Given the description of an element on the screen output the (x, y) to click on. 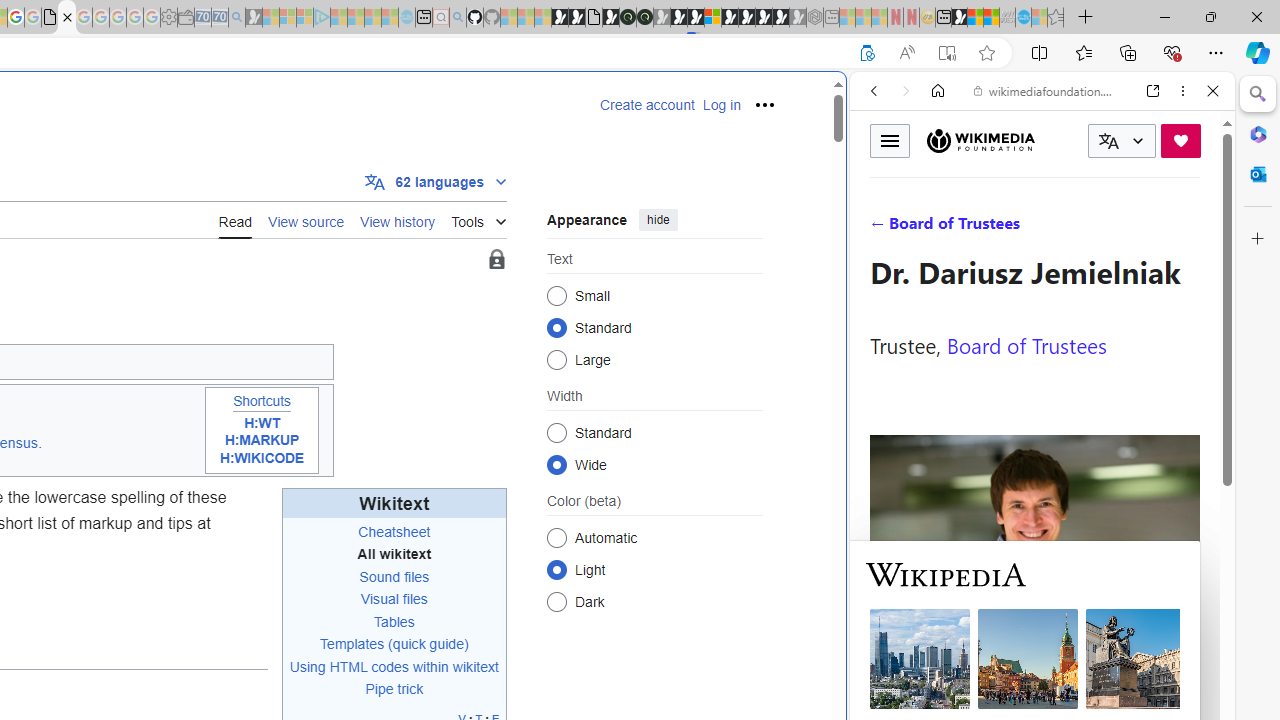
Earth has six continents not seven, radical new study claims (991, 17)
Read (235, 219)
Future Focus Report 2024 (644, 17)
Home | Sky Blue Bikes - Sky Blue Bikes (687, 426)
Pipe trick (394, 689)
Using HTML codes within wikitext (394, 666)
Bing Real Estate - Home sales and rental listings - Sleeping (236, 17)
View source (306, 219)
Favorites - Sleeping (1055, 17)
Toggle menu (890, 140)
Board of Trustees (1026, 344)
Help:Wikitext - Wikipedia (66, 17)
hide (658, 219)
